Given the description of an element on the screen output the (x, y) to click on. 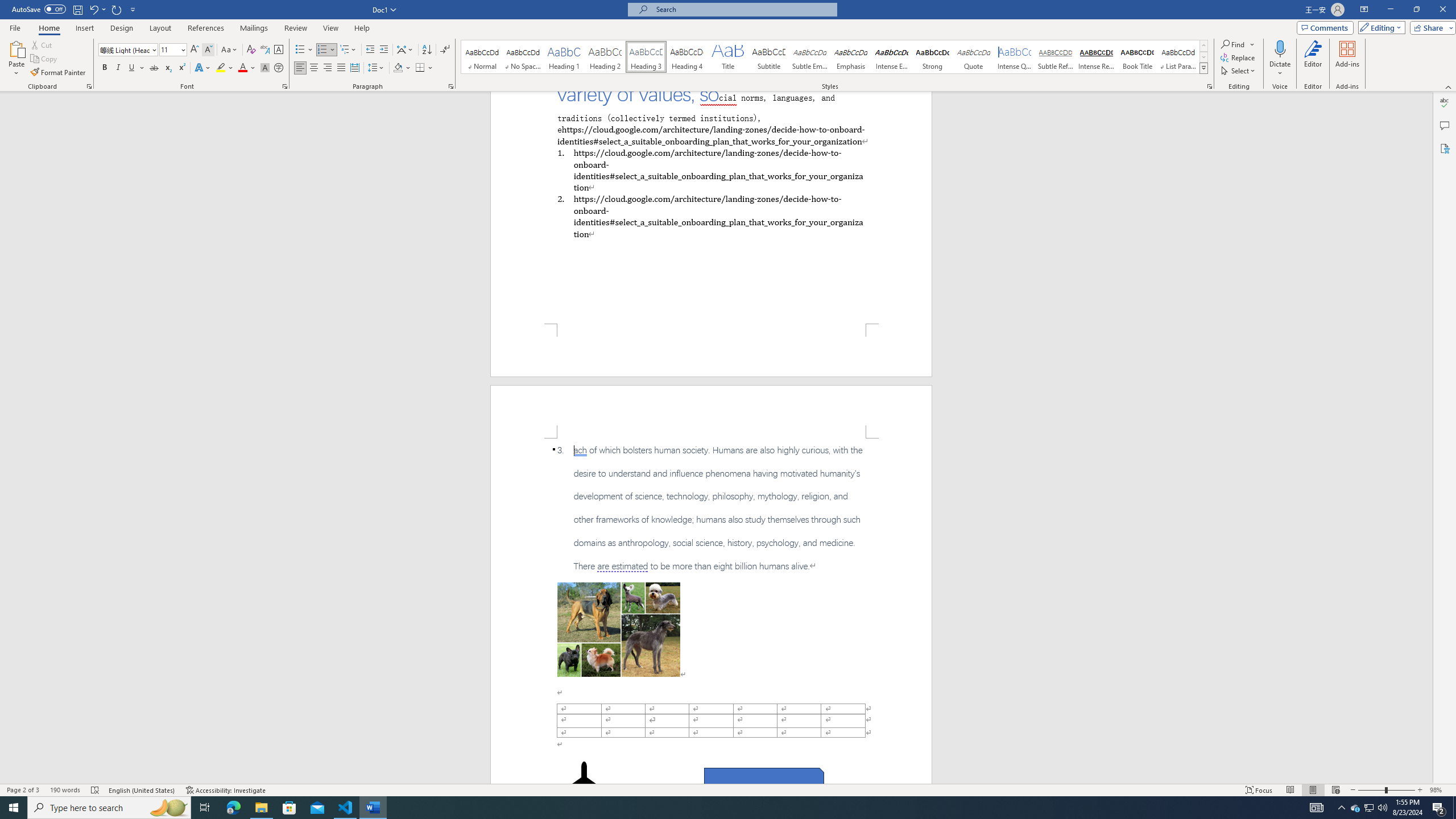
Styles (1203, 67)
Cut (42, 44)
Strong (932, 56)
Row up (1203, 45)
Font Color (246, 67)
Select (1238, 69)
Paragraph... (450, 85)
Line and Paragraph Spacing (376, 67)
Font Color Blue-Gray, Text 2 (241, 67)
